Given the description of an element on the screen output the (x, y) to click on. 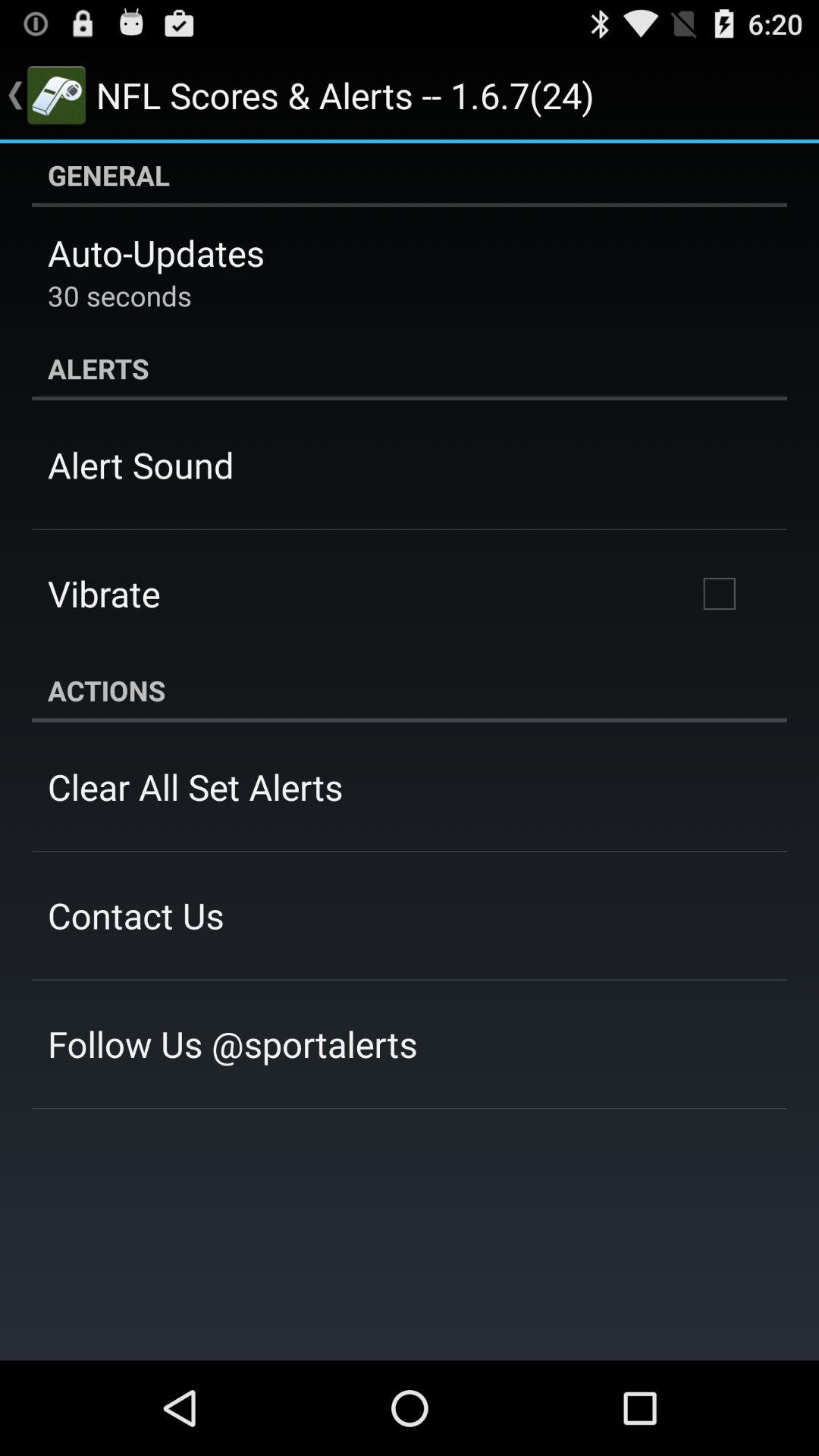
jump to the general (409, 175)
